Given the description of an element on the screen output the (x, y) to click on. 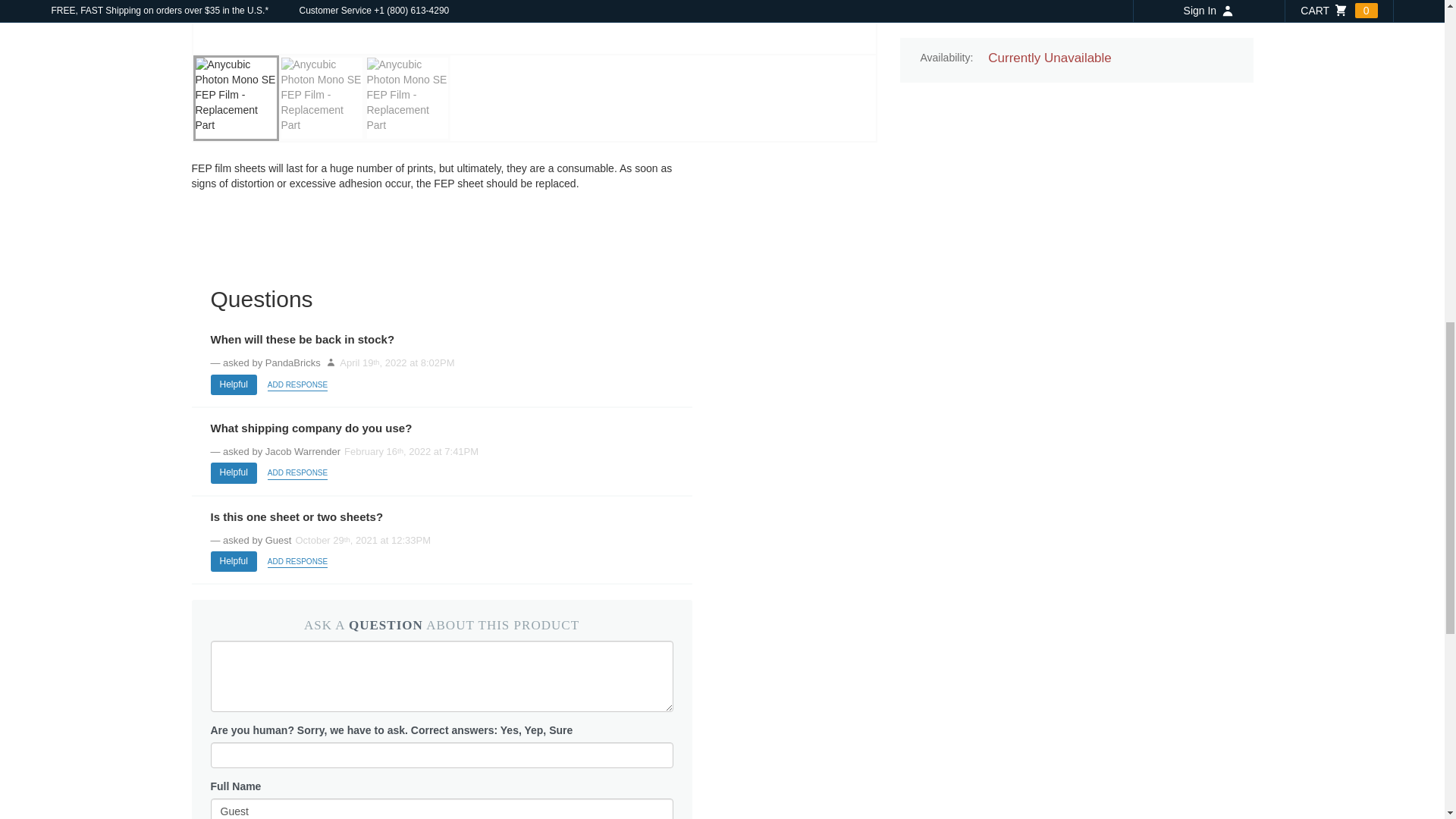
Guest (441, 808)
